Given the description of an element on the screen output the (x, y) to click on. 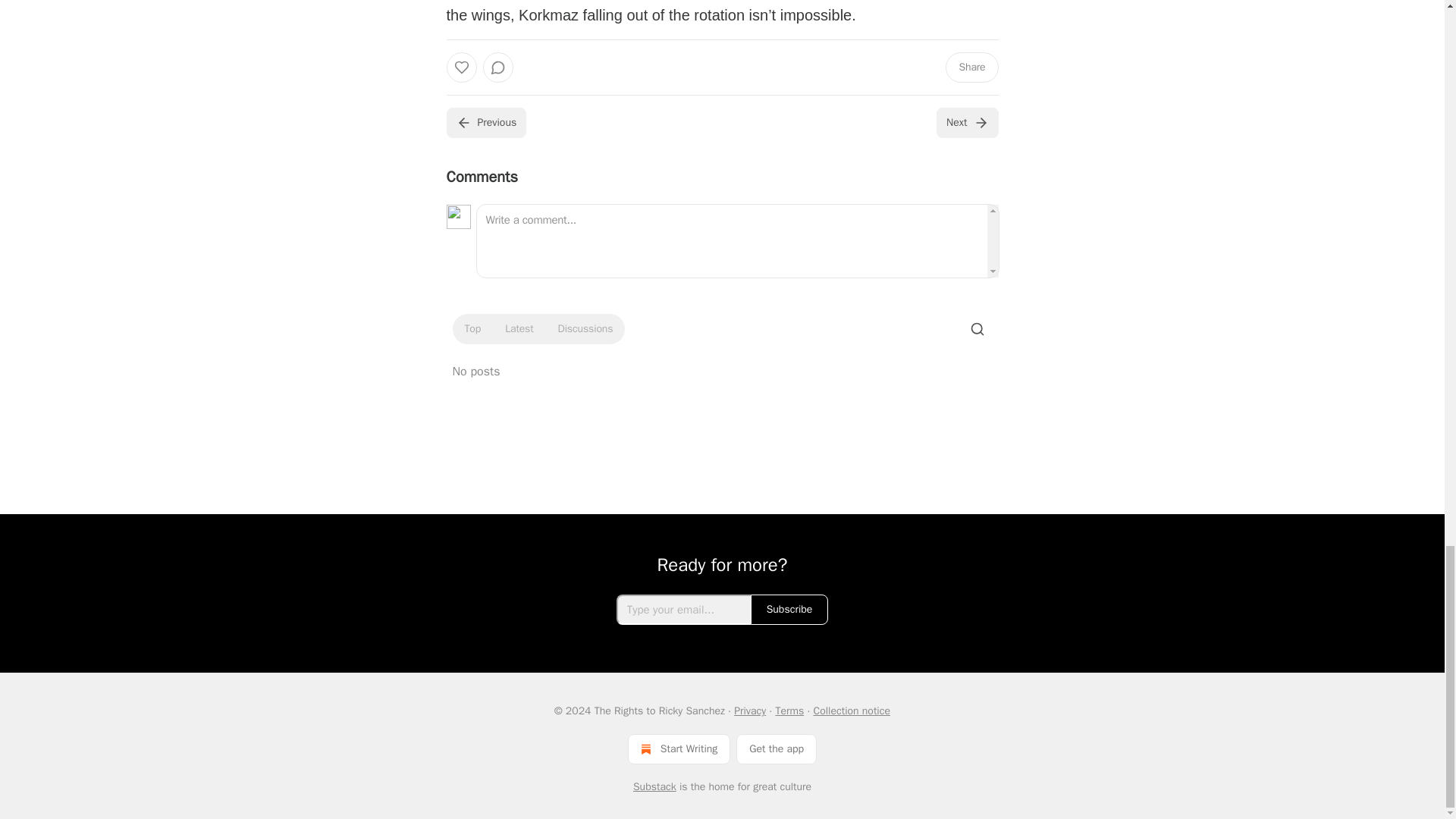
Previous (485, 122)
Top (471, 328)
Next (966, 122)
Share (970, 67)
